Given the description of an element on the screen output the (x, y) to click on. 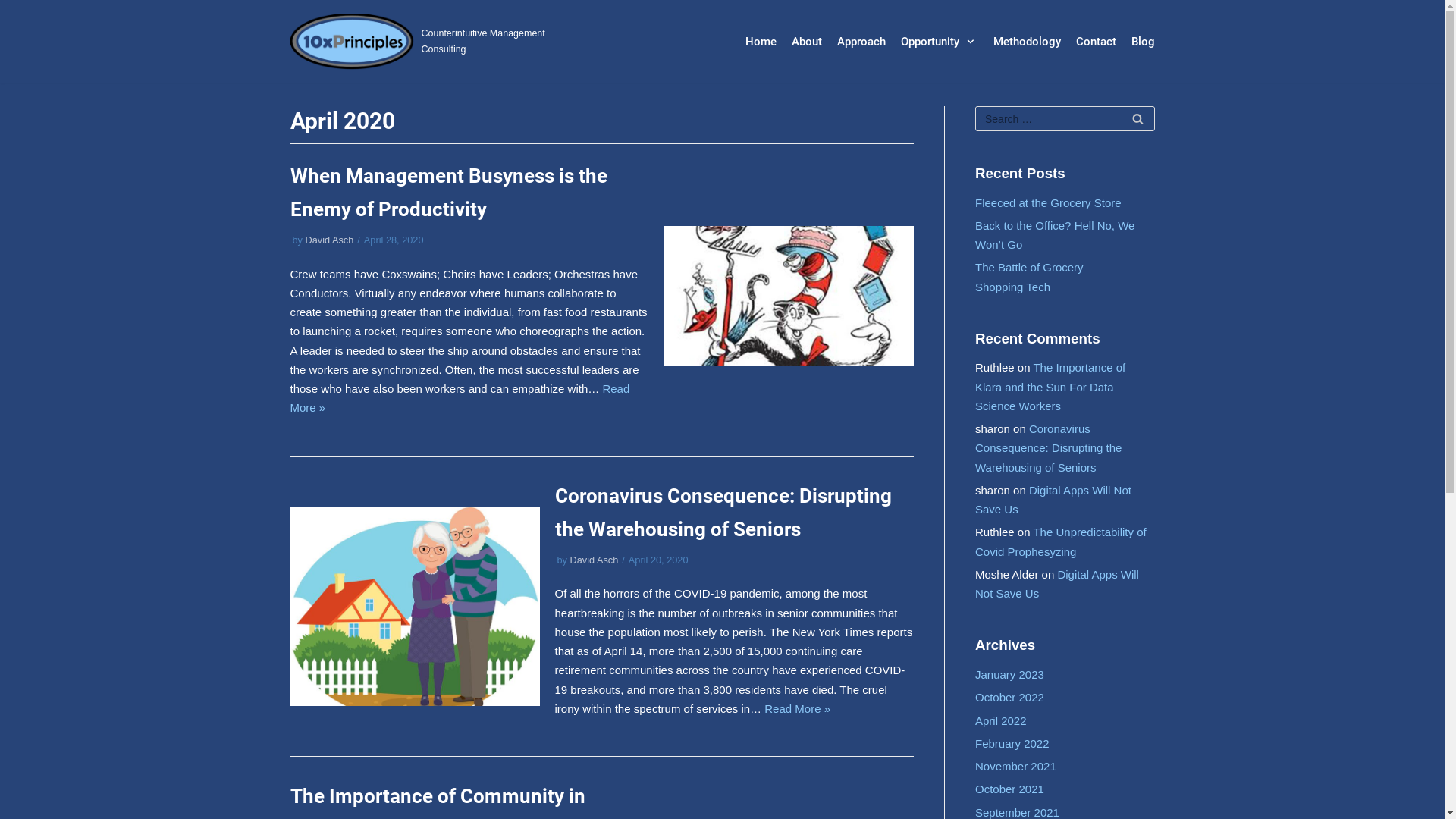
Digital Apps Will Not Save Us Element type: text (1057, 583)
February 2022 Element type: text (1012, 743)
Counterintuitive Management Consulting Element type: text (425, 41)
Opportunity Element type: text (939, 41)
January 2023 Element type: text (1009, 674)
When Management Busyness is the Enemy of Productivity Element type: hover (788, 295)
Digital Apps Will Not Save Us Element type: text (1053, 499)
Methodology Element type: text (1026, 41)
The Importance of Klara and the Sun For Data Science Workers Element type: text (1050, 386)
October 2021 Element type: text (1009, 788)
The Battle of Grocery Shopping Tech Element type: text (1029, 276)
Search Element type: text (1137, 118)
October 2022 Element type: text (1009, 696)
The Unpredictability of Covid Prophesyzing Element type: text (1060, 541)
April 2022 Element type: text (1000, 720)
Home Element type: text (760, 41)
Skip to content Element type: text (15, 31)
David Asch Element type: text (594, 559)
Fleeced at the Grocery Store Element type: text (1048, 202)
When Management Busyness is the Enemy of Productivity Element type: text (447, 192)
Blog Element type: text (1142, 41)
David Asch Element type: text (329, 239)
November 2021 Element type: text (1015, 765)
Approach Element type: text (861, 41)
About Element type: text (806, 41)
Contact Element type: text (1095, 41)
